Given the description of an element on the screen output the (x, y) to click on. 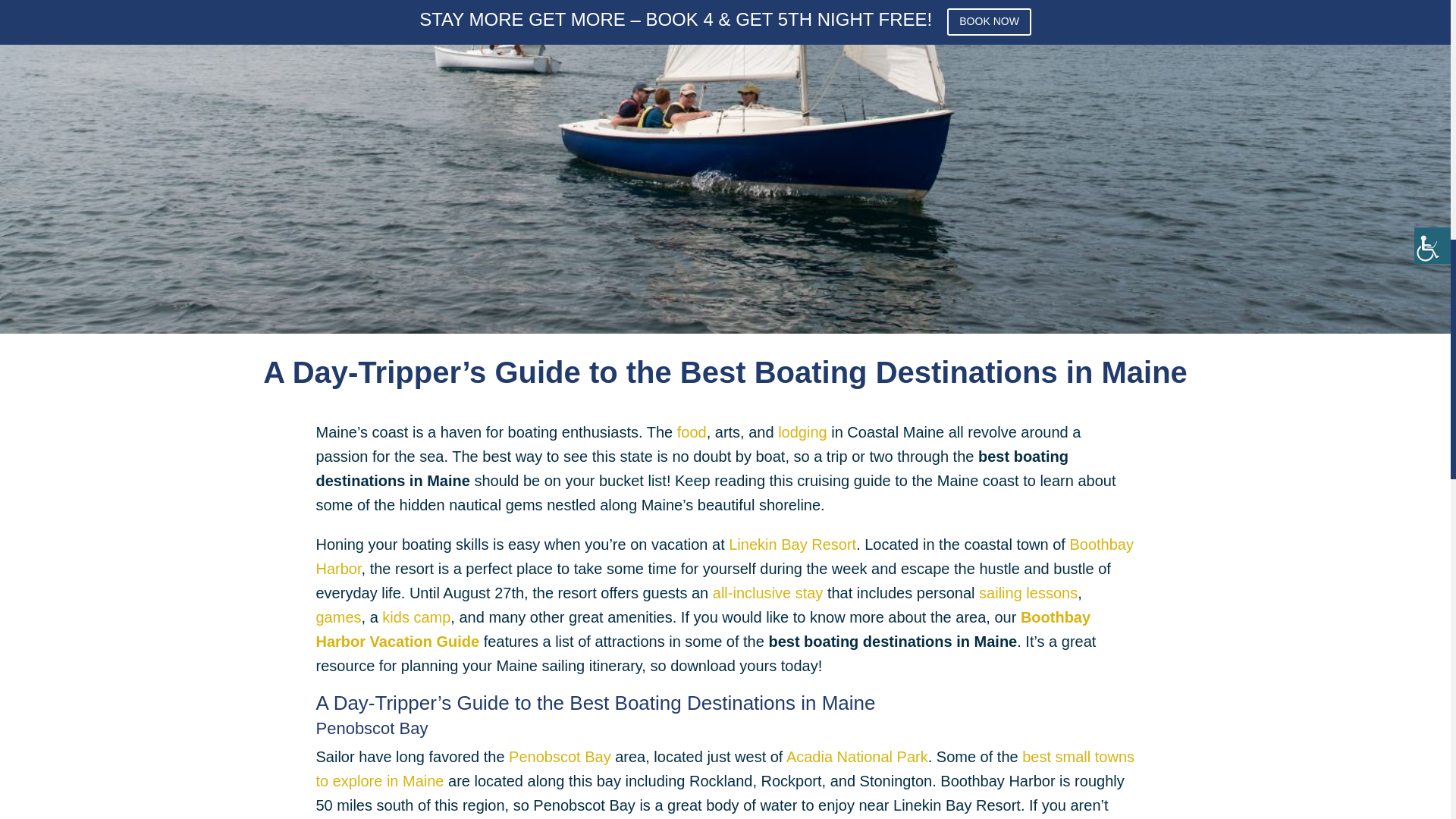
all-inclusive stay (768, 592)
Boothbay Harbor Vacation Guide (702, 629)
kids camp (415, 617)
Acadia National Park (857, 756)
Linekin Bay Resort (792, 544)
Boothbay Harbor (723, 556)
sailing lessons (1027, 592)
food (691, 432)
best small towns to explore in Maine (724, 768)
lodging (802, 432)
